Given the description of an element on the screen output the (x, y) to click on. 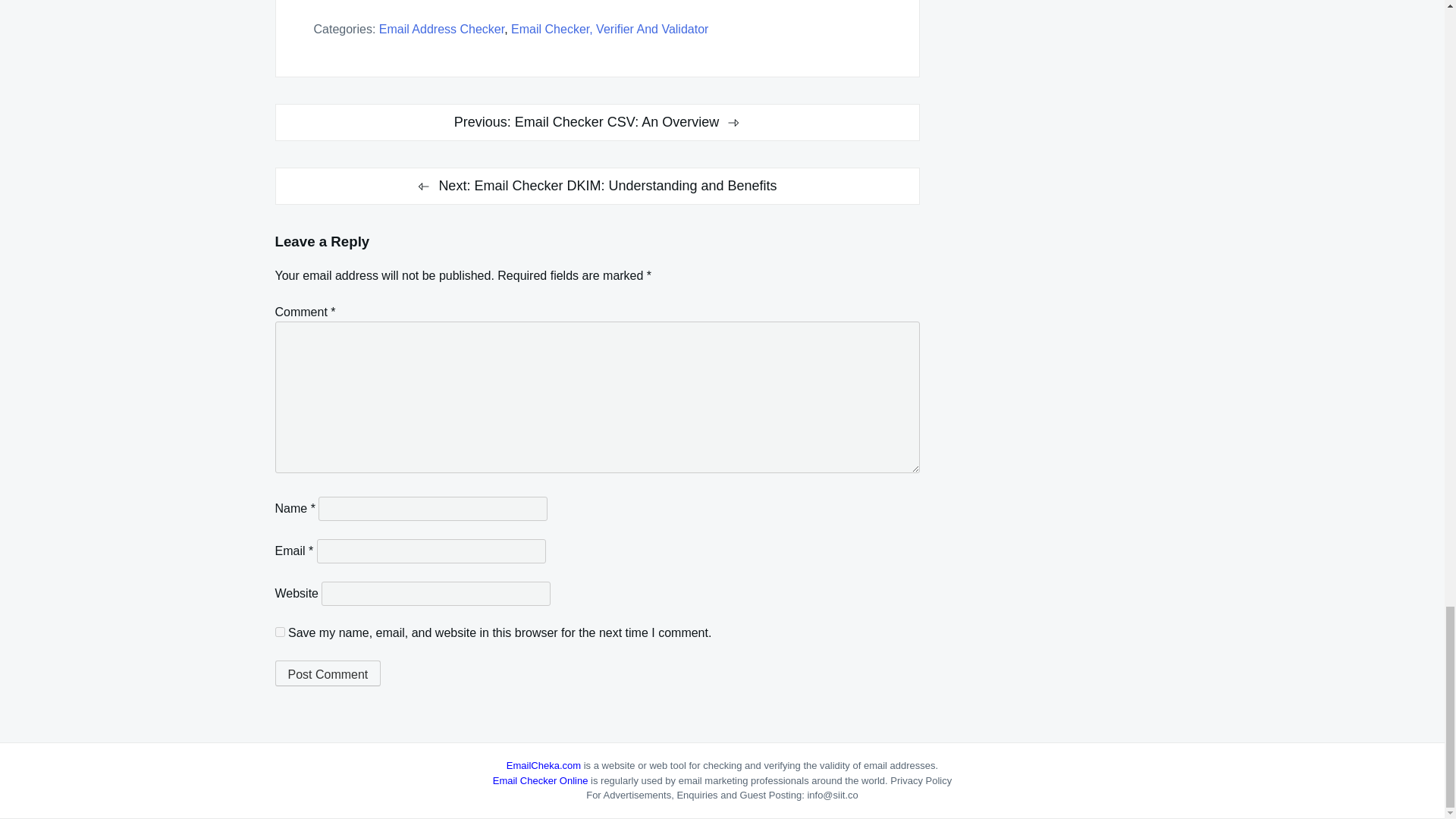
Previous: Email Checker CSV: An Overview (596, 122)
Post Comment (327, 673)
Email Checker, Verifier And Validator (609, 29)
Next: Email Checker DKIM: Understanding and Benefits (596, 185)
yes (279, 632)
Email Address Checker (440, 29)
Post Comment (327, 673)
